Given the description of an element on the screen output the (x, y) to click on. 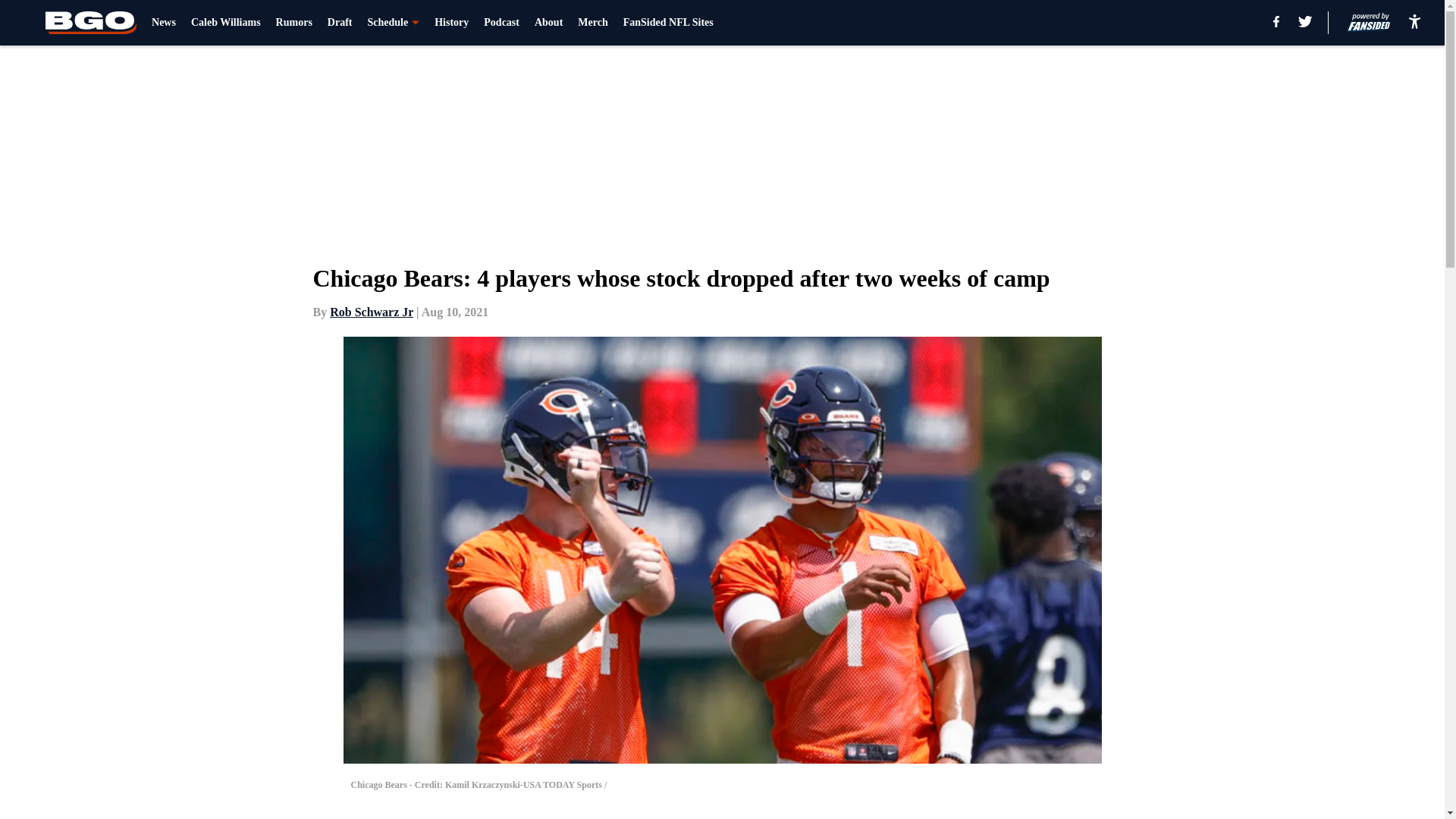
Rob Schwarz Jr (371, 311)
History (450, 22)
Draft (339, 22)
Rumors (294, 22)
Merch (592, 22)
News (163, 22)
Caleb Williams (225, 22)
About (548, 22)
Podcast (501, 22)
FanSided NFL Sites (668, 22)
